Given the description of an element on the screen output the (x, y) to click on. 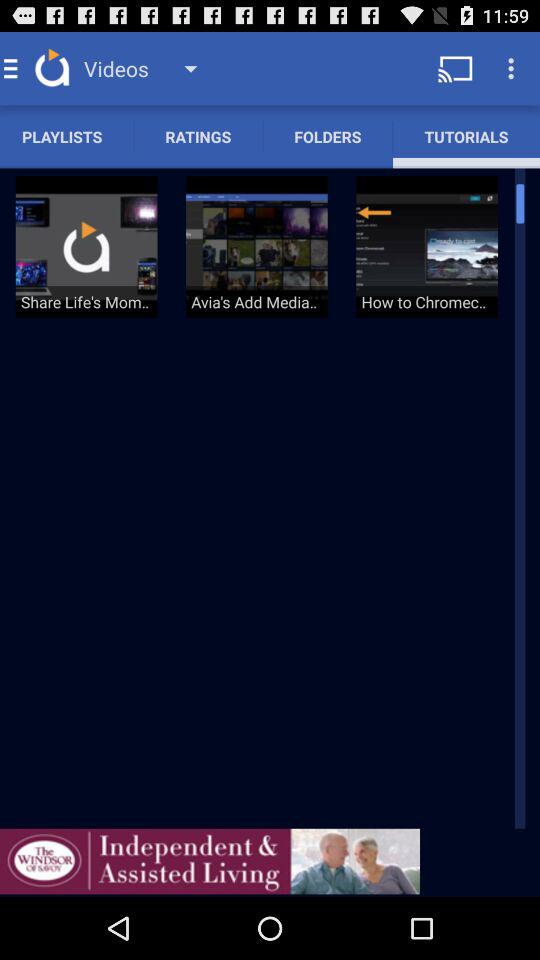
advertisement page (210, 861)
